Given the description of an element on the screen output the (x, y) to click on. 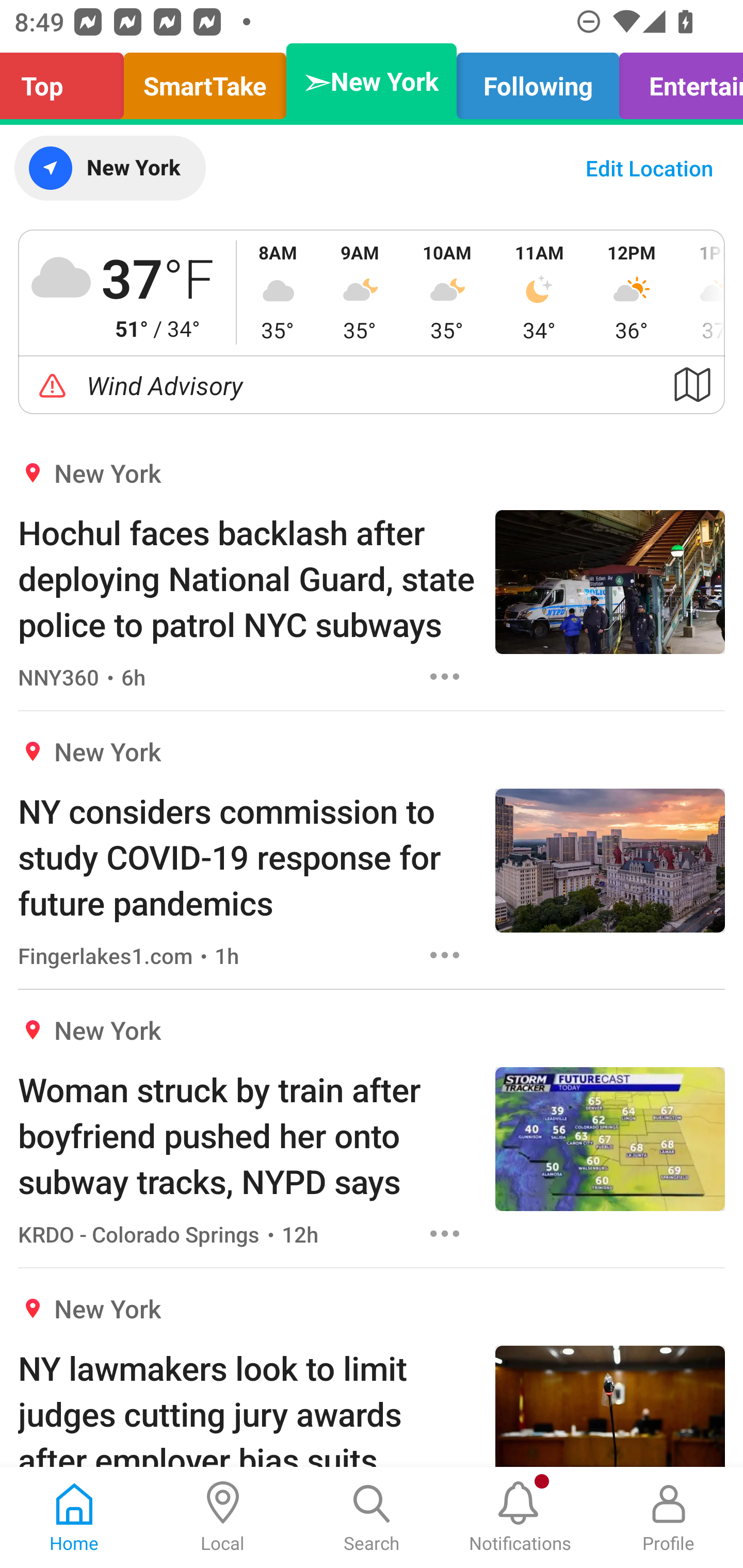
Top (67, 81)
SmartTake (204, 81)
➣New York (371, 81)
Following (537, 81)
New York (109, 168)
Edit Location (648, 168)
8AM 35° (277, 291)
9AM 35° (359, 291)
10AM 35° (447, 291)
11AM 34° (539, 291)
12PM 36° (631, 291)
Wind Advisory (371, 384)
Options (444, 676)
Options (444, 954)
Options (444, 1233)
Local (222, 1517)
Search (371, 1517)
Notifications, New notification Notifications (519, 1517)
Profile (668, 1517)
